Given the description of an element on the screen output the (x, y) to click on. 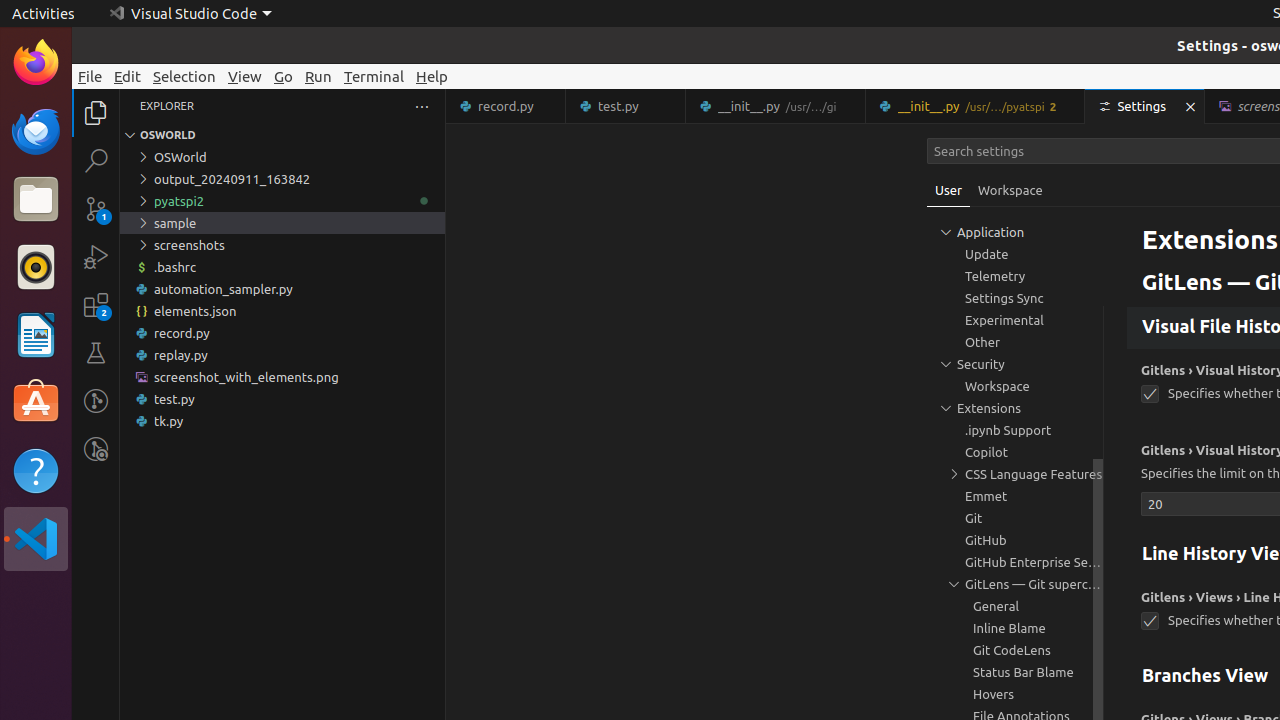
Explorer Section: osworld Element type: push-button (282, 135)
Terminal Element type: push-button (374, 76)
CSS Language Features, group Element type: tree-item (1015, 474)
gitlens.visualHistory.allowMultiple Element type: check-box (1150, 394)
Run Element type: push-button (318, 76)
